Given the description of an element on the screen output the (x, y) to click on. 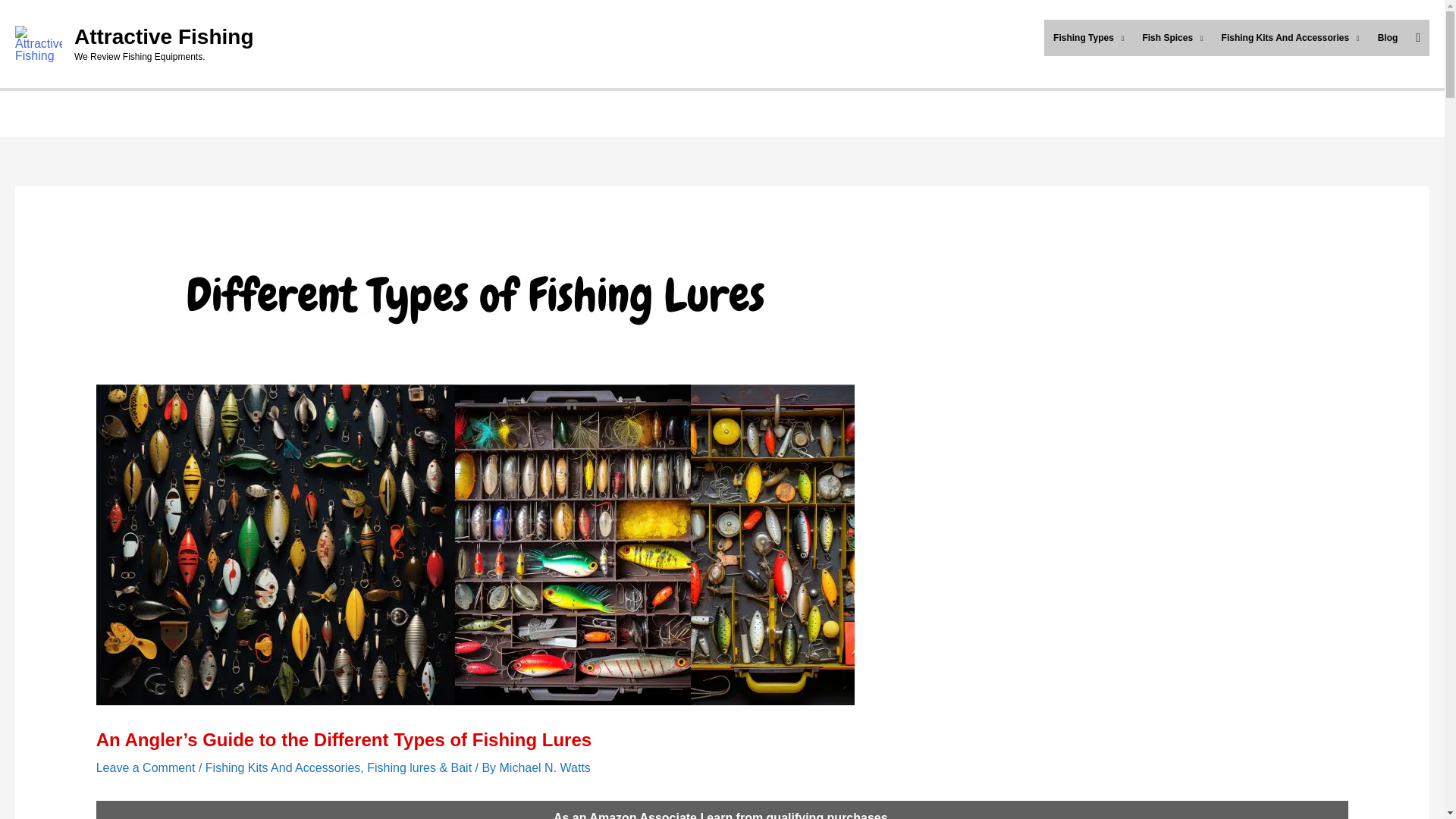
Fishing Types (1087, 37)
Blog (1387, 37)
Leave a Comment (145, 767)
Fish Spices (1171, 37)
Fishing Kits And Accessories (1290, 37)
Michael N. Watts (545, 767)
Fishing Kits And Accessories (283, 767)
Attractive Fishing (163, 36)
View all posts by Michael N. Watts (545, 767)
